Given the description of an element on the screen output the (x, y) to click on. 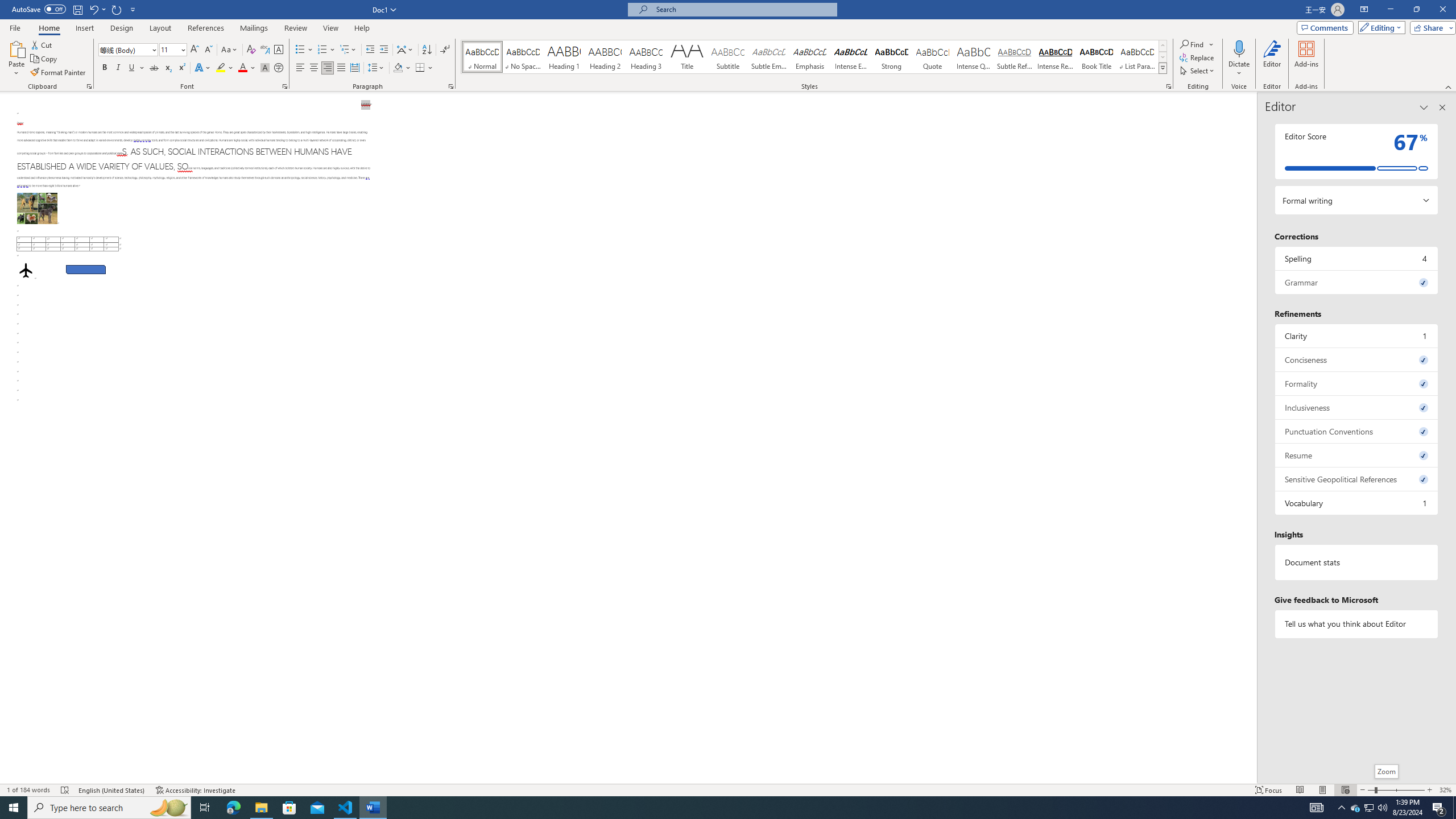
Editor Score 67% (1356, 151)
Subtle Emphasis (768, 56)
Undo Paragraph Alignment (92, 9)
